Given the description of an element on the screen output the (x, y) to click on. 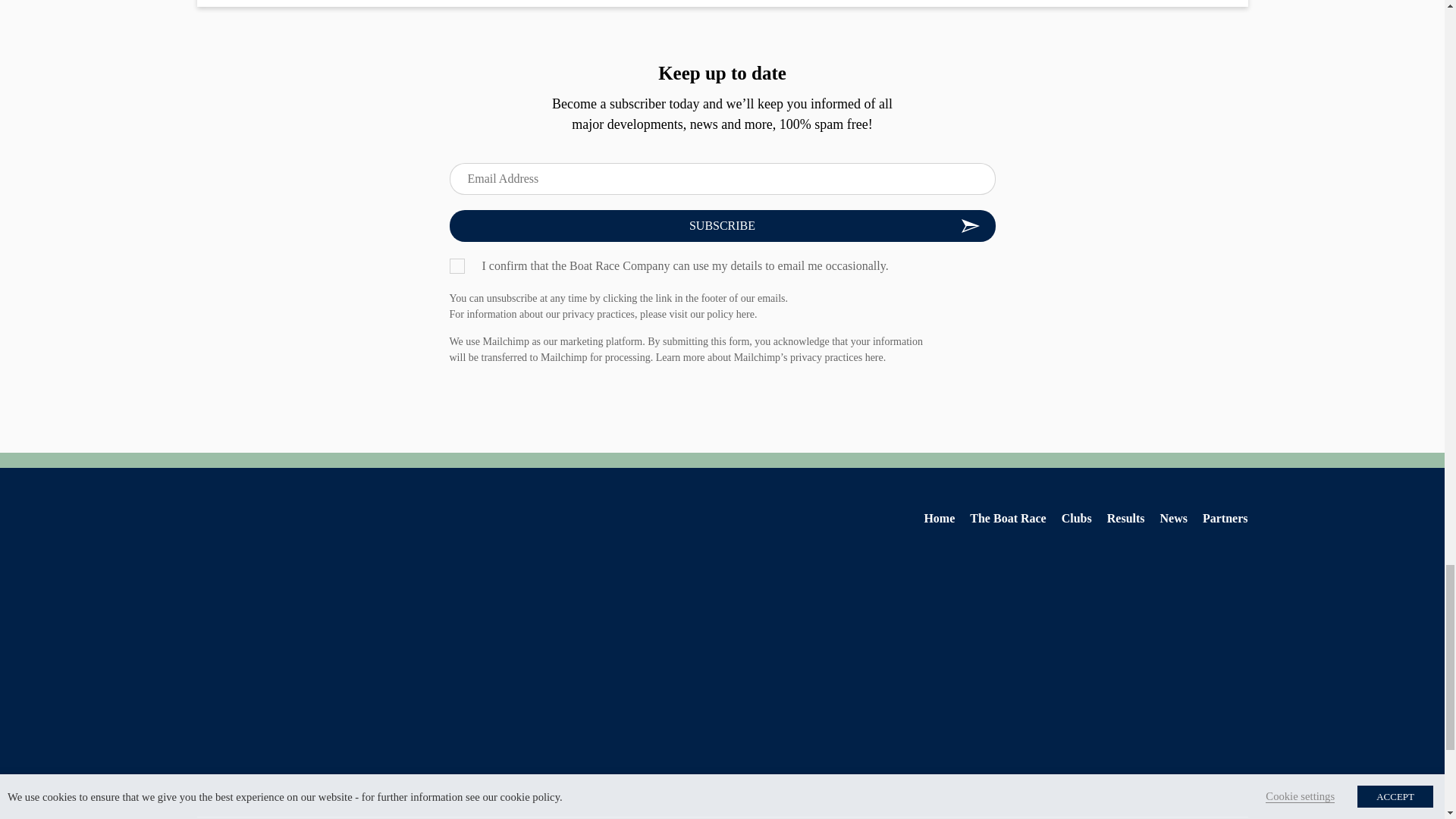
Y (456, 265)
SUBSCRIBE (721, 225)
